Given the description of an element on the screen output the (x, y) to click on. 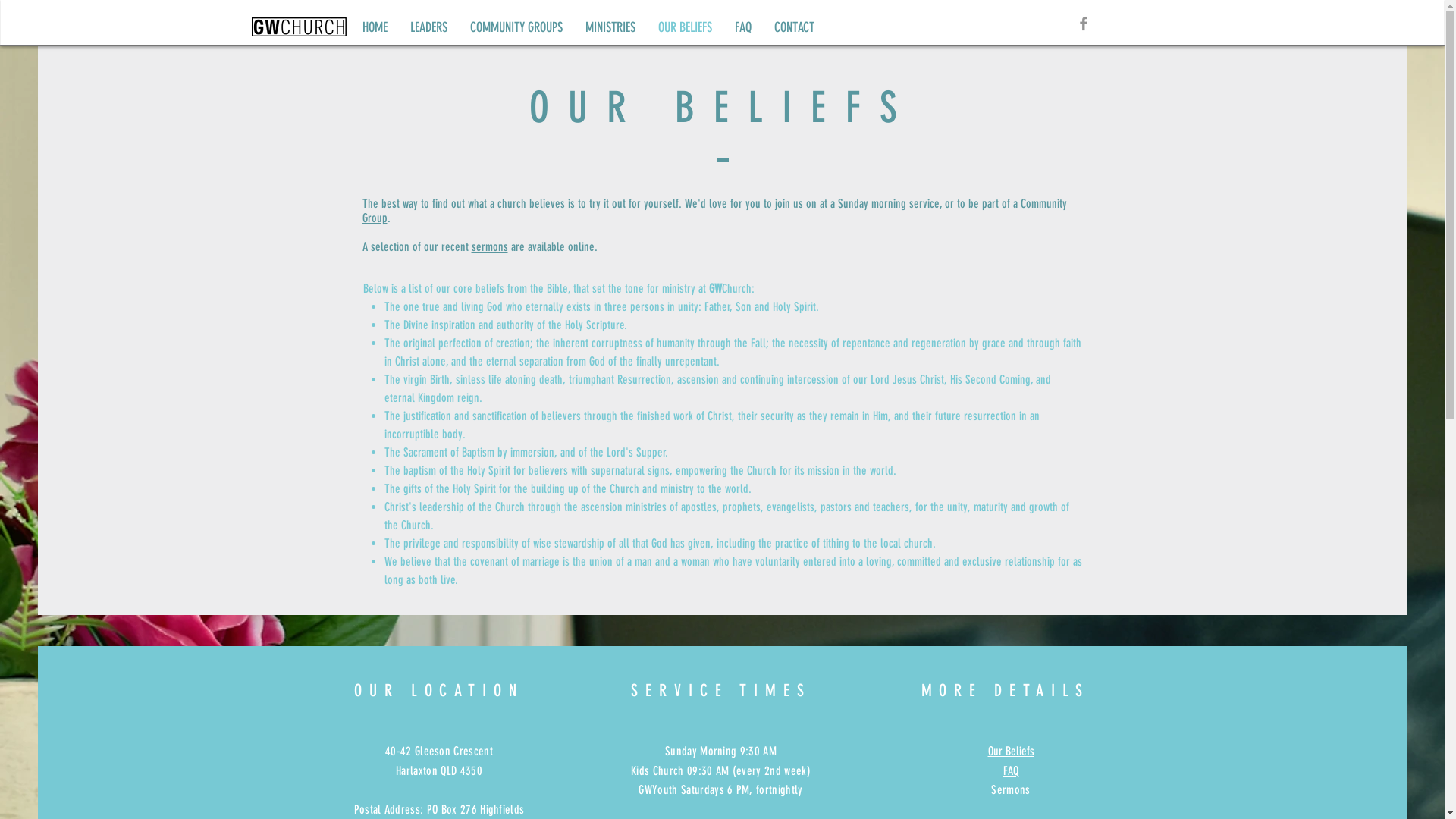
Sermons Element type: text (1010, 789)
Community Group Element type: text (714, 210)
CONTACT Element type: text (793, 27)
sermons Element type: text (489, 246)
FAQ Element type: text (1011, 770)
MINISTRIES Element type: text (609, 27)
COMMUNITY GROUPS Element type: text (515, 27)
LEADERS Element type: text (428, 27)
Our Beliefs Element type: text (1010, 750)
Sunday Morning 9:30 AM Element type: text (720, 750)
OUR BELIEFS Element type: text (684, 27)
FAQ Element type: text (742, 27)
HOME Element type: text (374, 27)
